Given the description of an element on the screen output the (x, y) to click on. 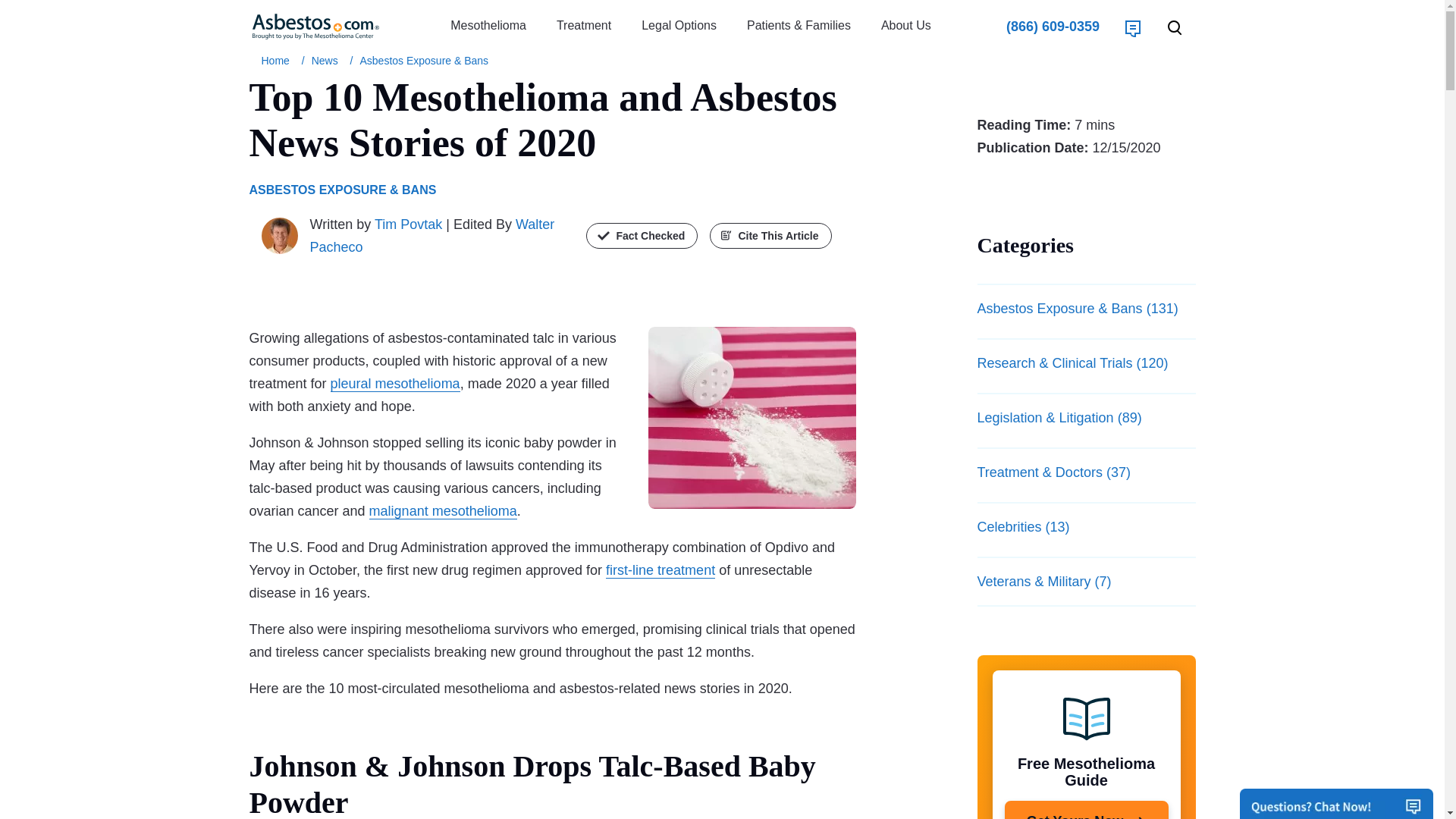
Treatment (583, 25)
Mesothelioma Center (277, 60)
Mesothelioma (487, 25)
